Given the description of an element on the screen output the (x, y) to click on. 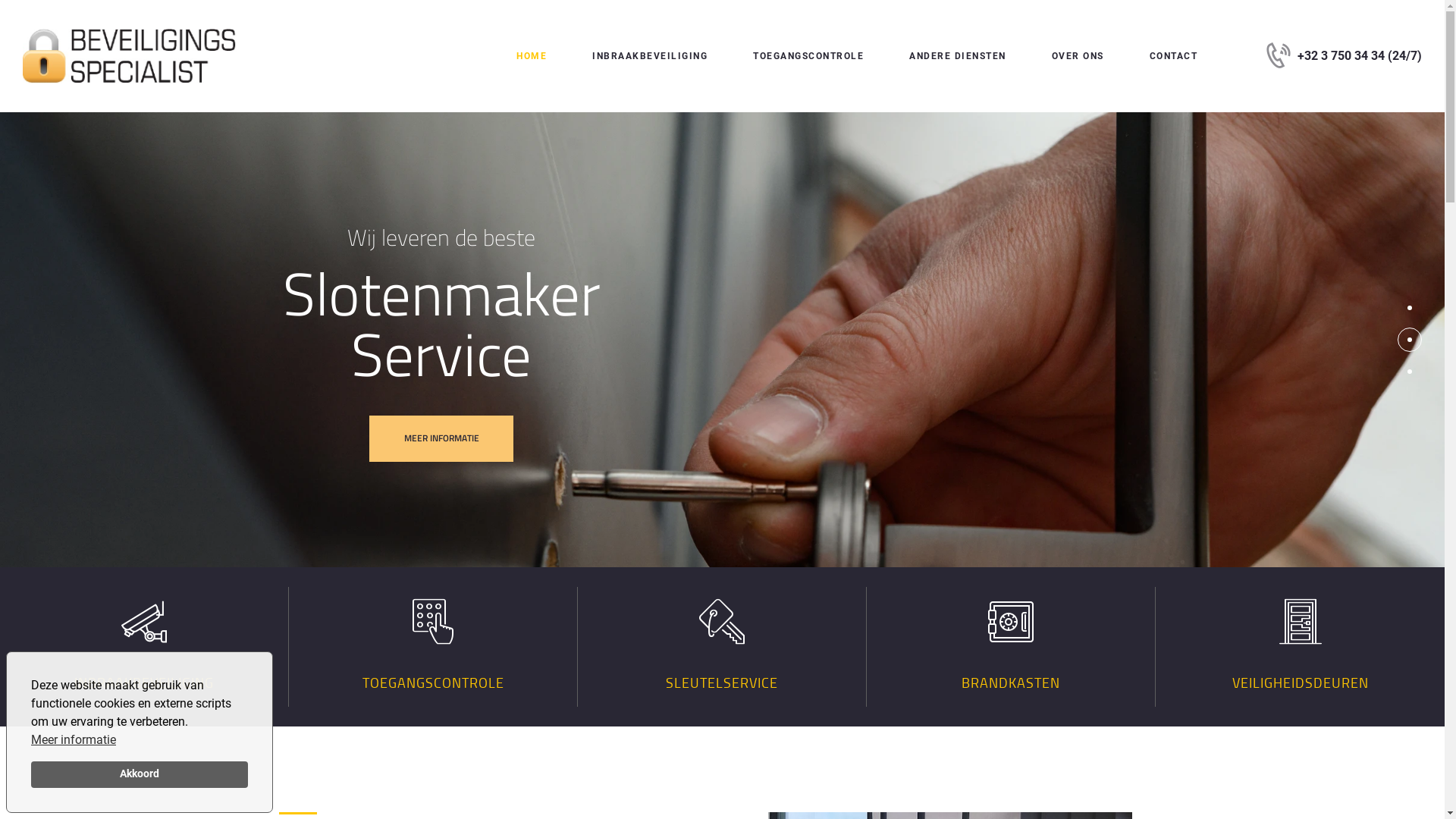
MEER INFORMATIE Element type: text (441, 438)
ANDERE DIENSTEN Element type: text (957, 56)
Akkoord Element type: text (139, 774)
CONTACT Element type: text (1173, 56)
OVER ONS Element type: text (1077, 56)
HOME Element type: text (531, 56)
INBRAAKBEVEILIGING Element type: text (649, 56)
Meer informatie Element type: text (73, 740)
+32 3 750 34 34 (24/7) Element type: text (1343, 55)
TOEGANGSCONTROLE Element type: text (808, 56)
